Given the description of an element on the screen output the (x, y) to click on. 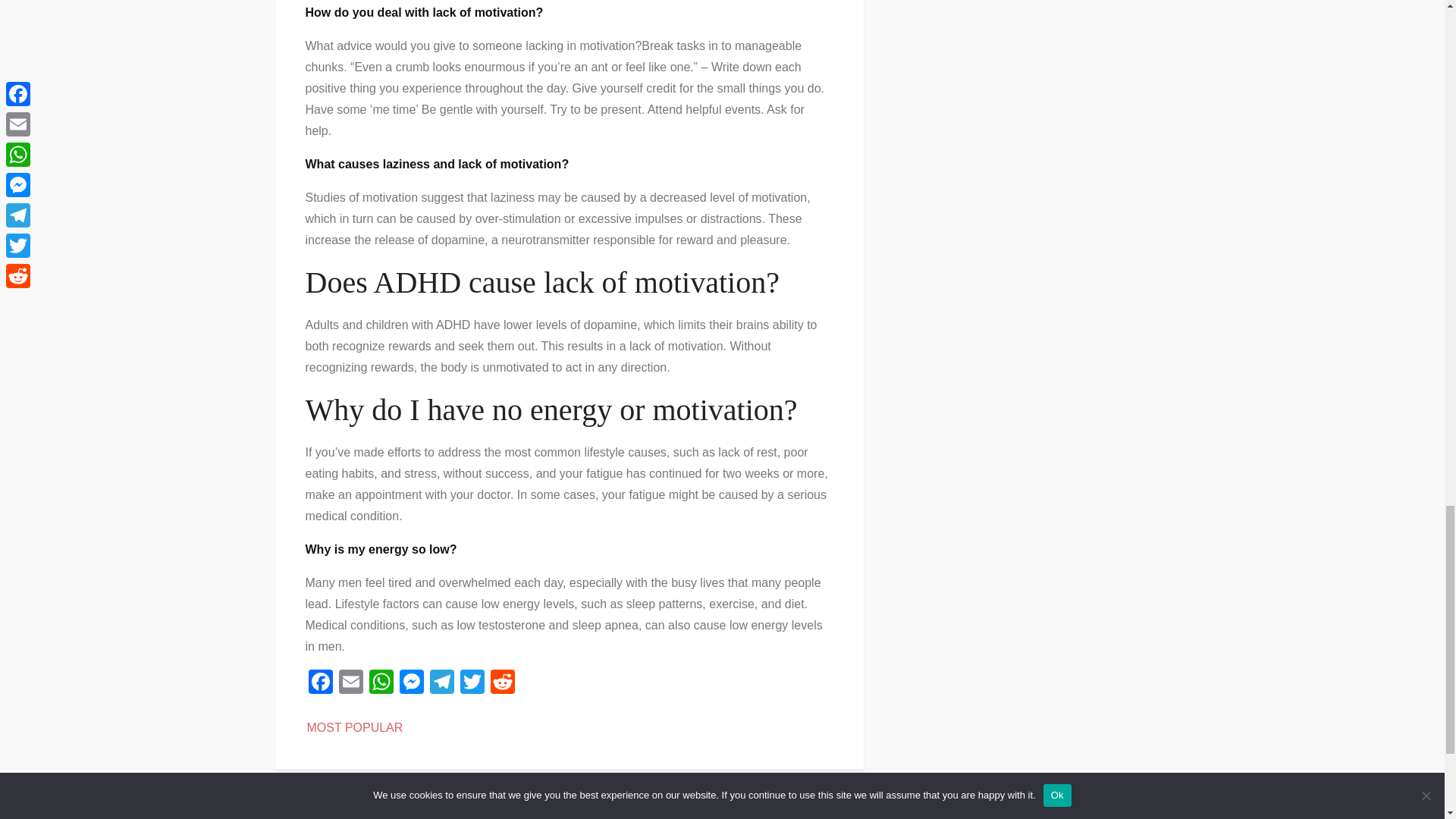
Telegram (441, 683)
How do you invite someone to a committee? (422, 812)
Messenger (411, 683)
WhatsApp (380, 683)
WhatsApp (380, 683)
Email (349, 683)
MOST POPULAR (354, 727)
Telegram (441, 683)
Reddit (501, 683)
Email (349, 683)
Twitter (471, 683)
Facebook (319, 683)
Reddit (501, 683)
How do you make a proposal stand out? (716, 812)
Messenger (411, 683)
